Given the description of an element on the screen output the (x, y) to click on. 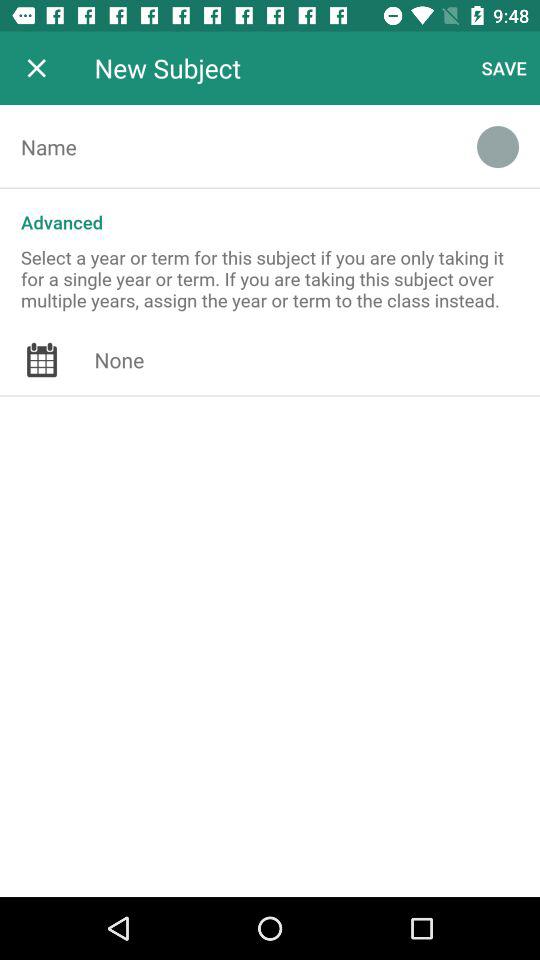
launch the icon below select a year item (317, 359)
